Given the description of an element on the screen output the (x, y) to click on. 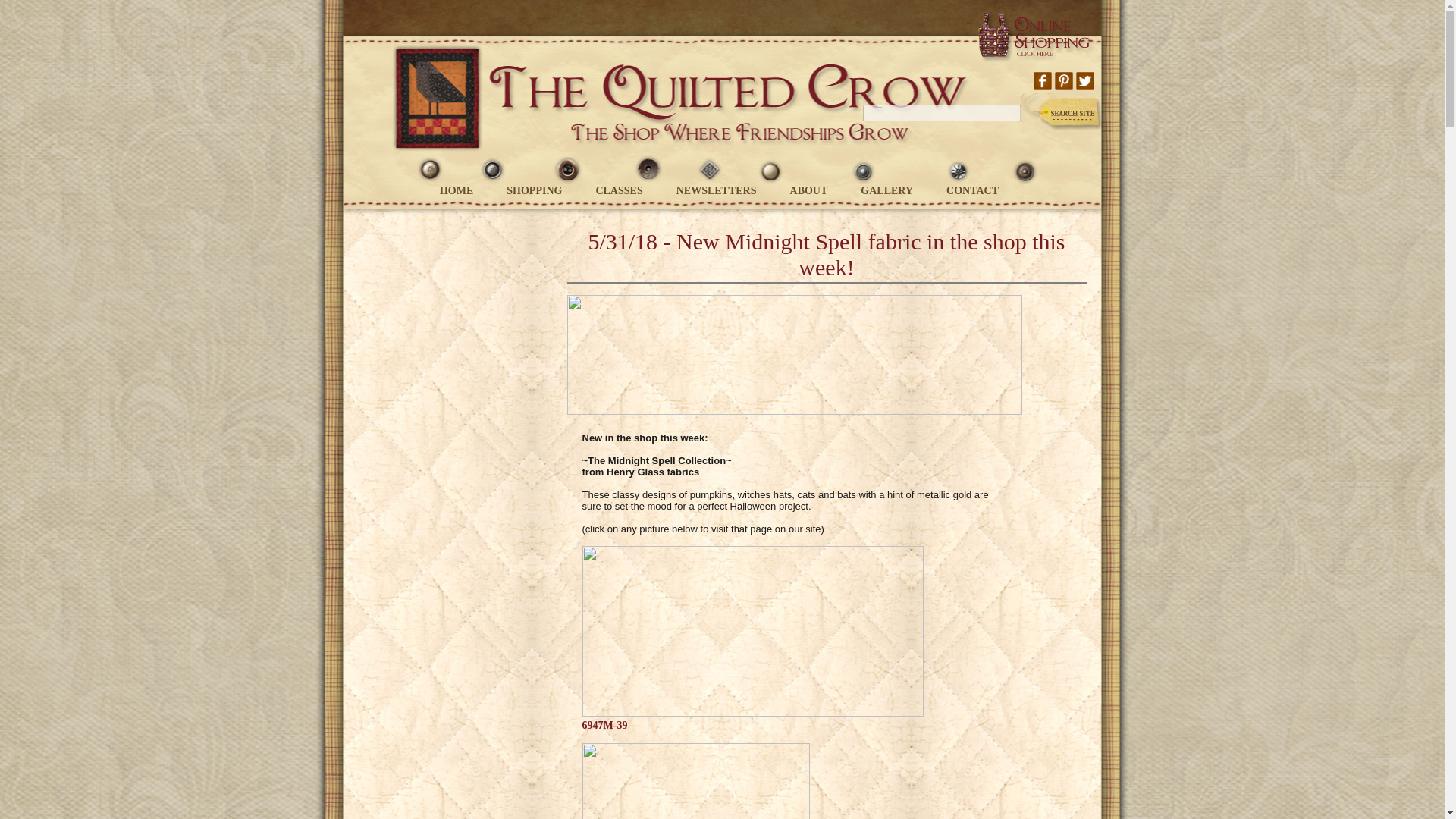
HOME (456, 190)
6947M-39 (604, 725)
GALLERY (886, 190)
CLASSES (618, 190)
SHOPPING (534, 190)
NEWSLETTERS (717, 190)
ABOUT (809, 190)
CONTACT (972, 190)
